Given the description of an element on the screen output the (x, y) to click on. 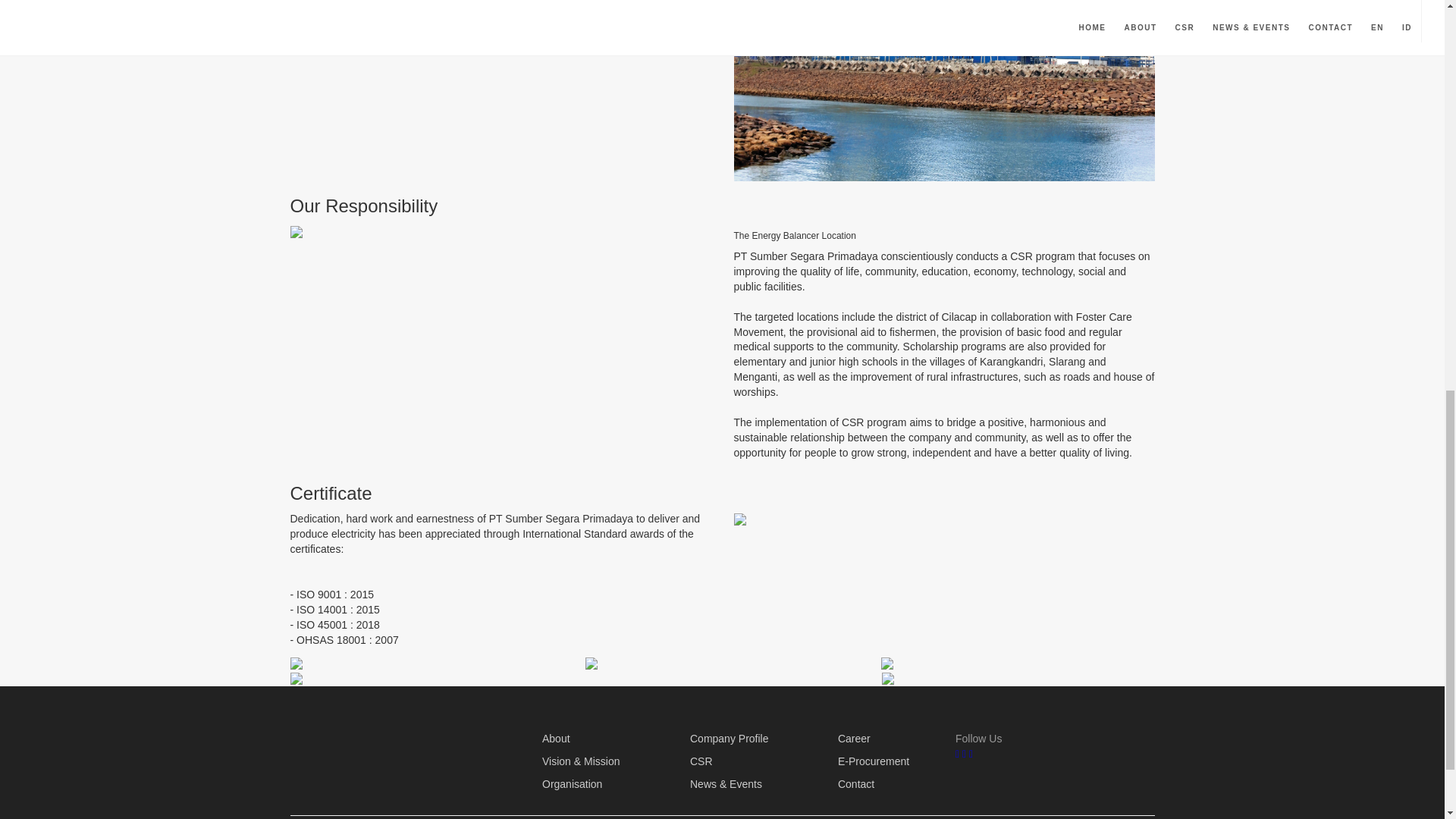
Organisation (571, 784)
About (555, 739)
E-Procurement (873, 761)
Career (854, 739)
Contact (856, 784)
CSR (701, 761)
Company Profile (729, 739)
